Given the description of an element on the screen output the (x, y) to click on. 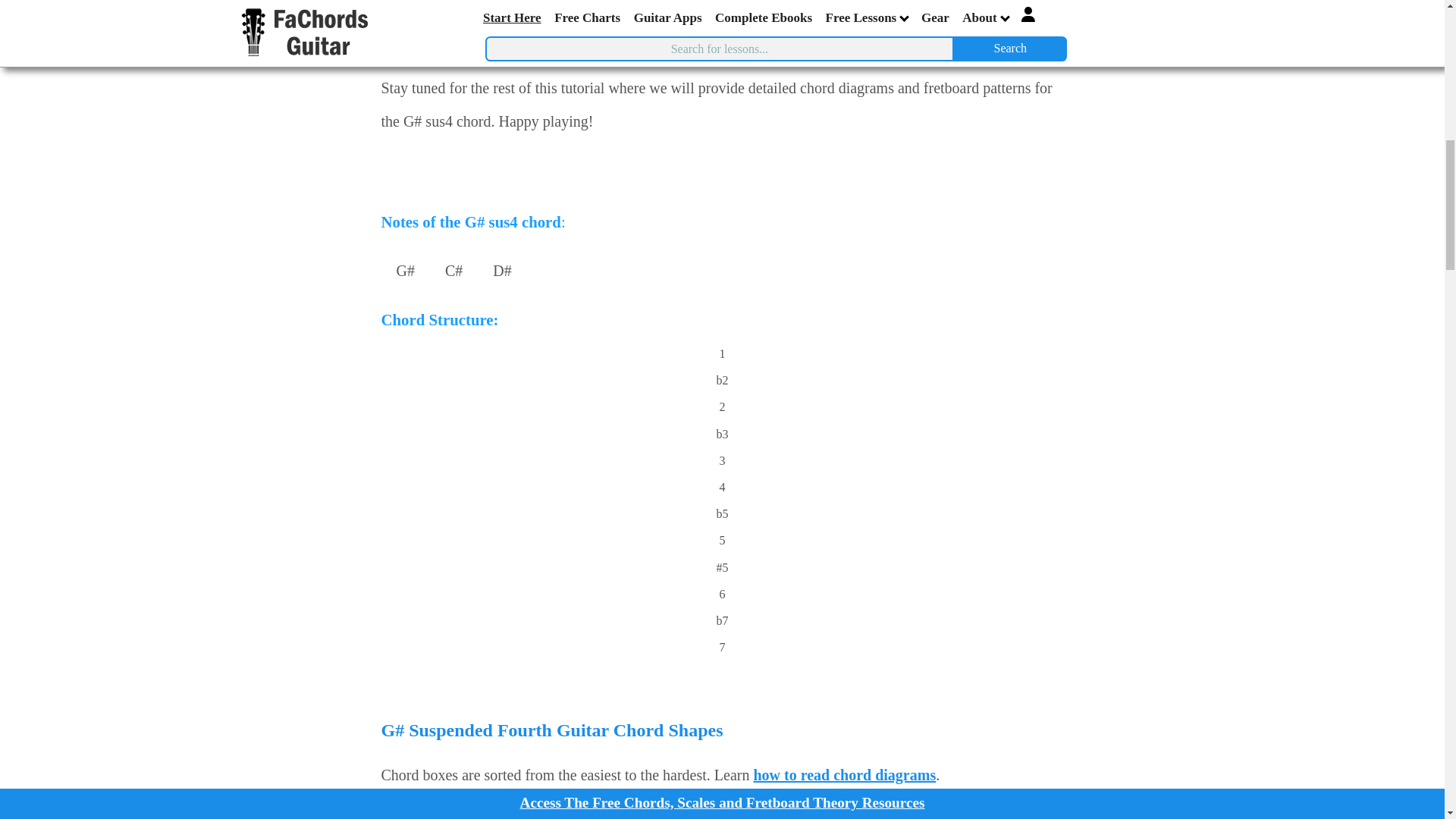
Bar Chords Tips (778, 816)
how to read chord diagrams (844, 774)
tutorial on chord progressions (478, 40)
